Given the description of an element on the screen output the (x, y) to click on. 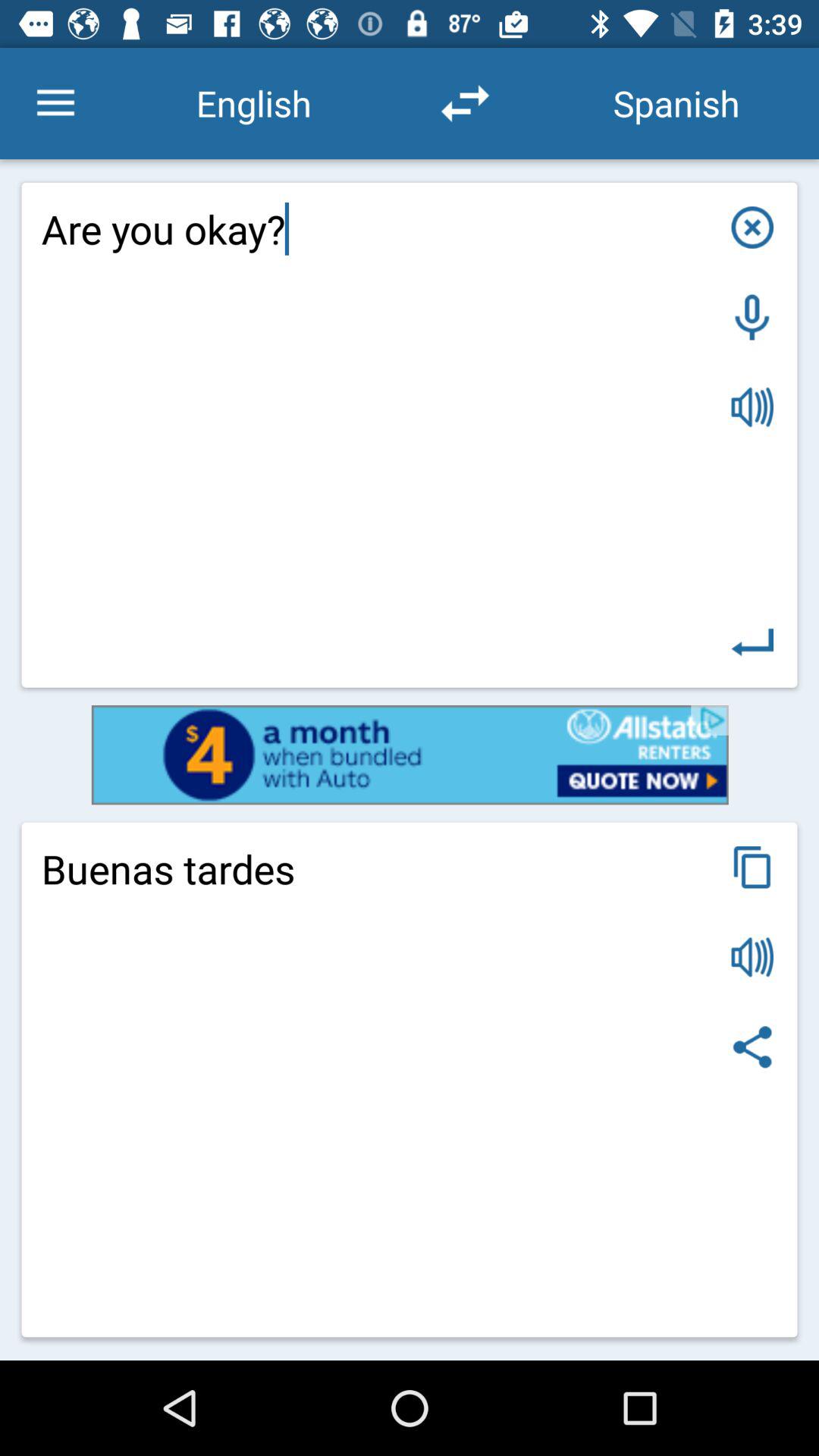
turn on microphone (752, 317)
